Given the description of an element on the screen output the (x, y) to click on. 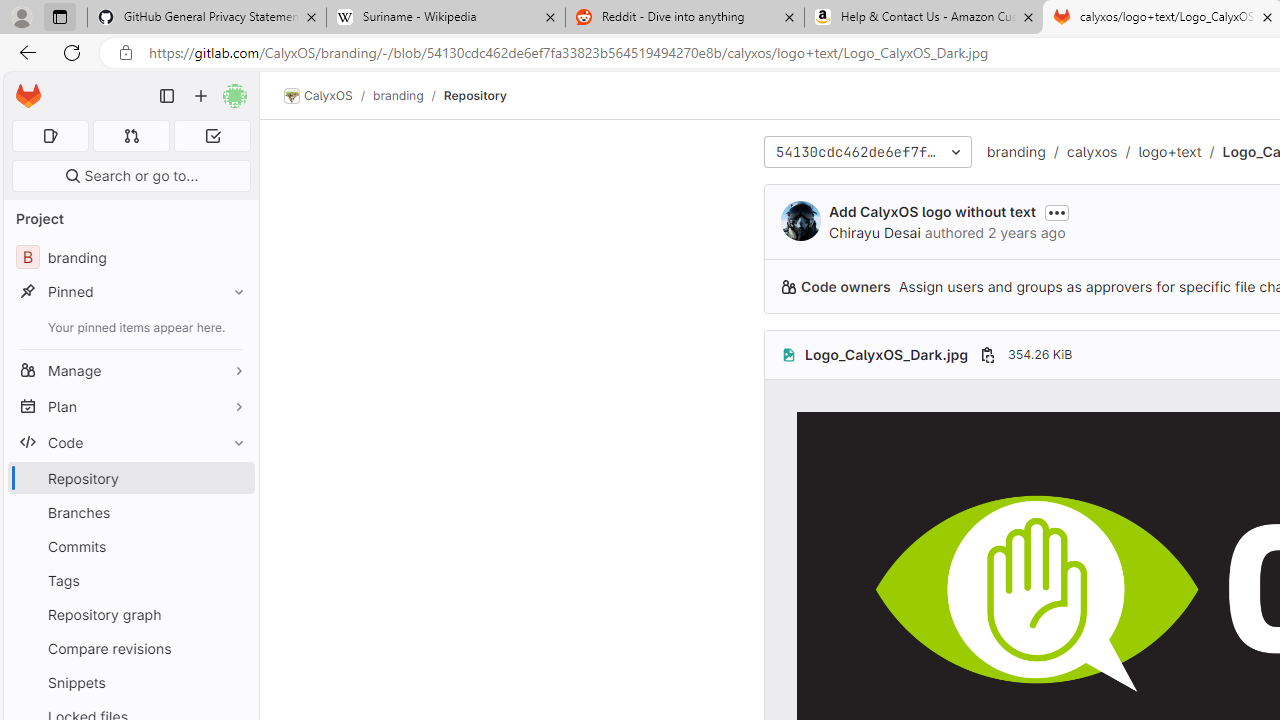
Code (130, 442)
branding (1015, 151)
Repository (474, 95)
Chirayu Desai (875, 232)
Chirayu Desai's avatar (800, 220)
/calyxos (1080, 151)
branding/ (408, 95)
/logo+text (1159, 151)
Chirayu Desai's avatar (800, 220)
GitHub General Privacy Statement - GitHub Docs (207, 17)
